Given the description of an element on the screen output the (x, y) to click on. 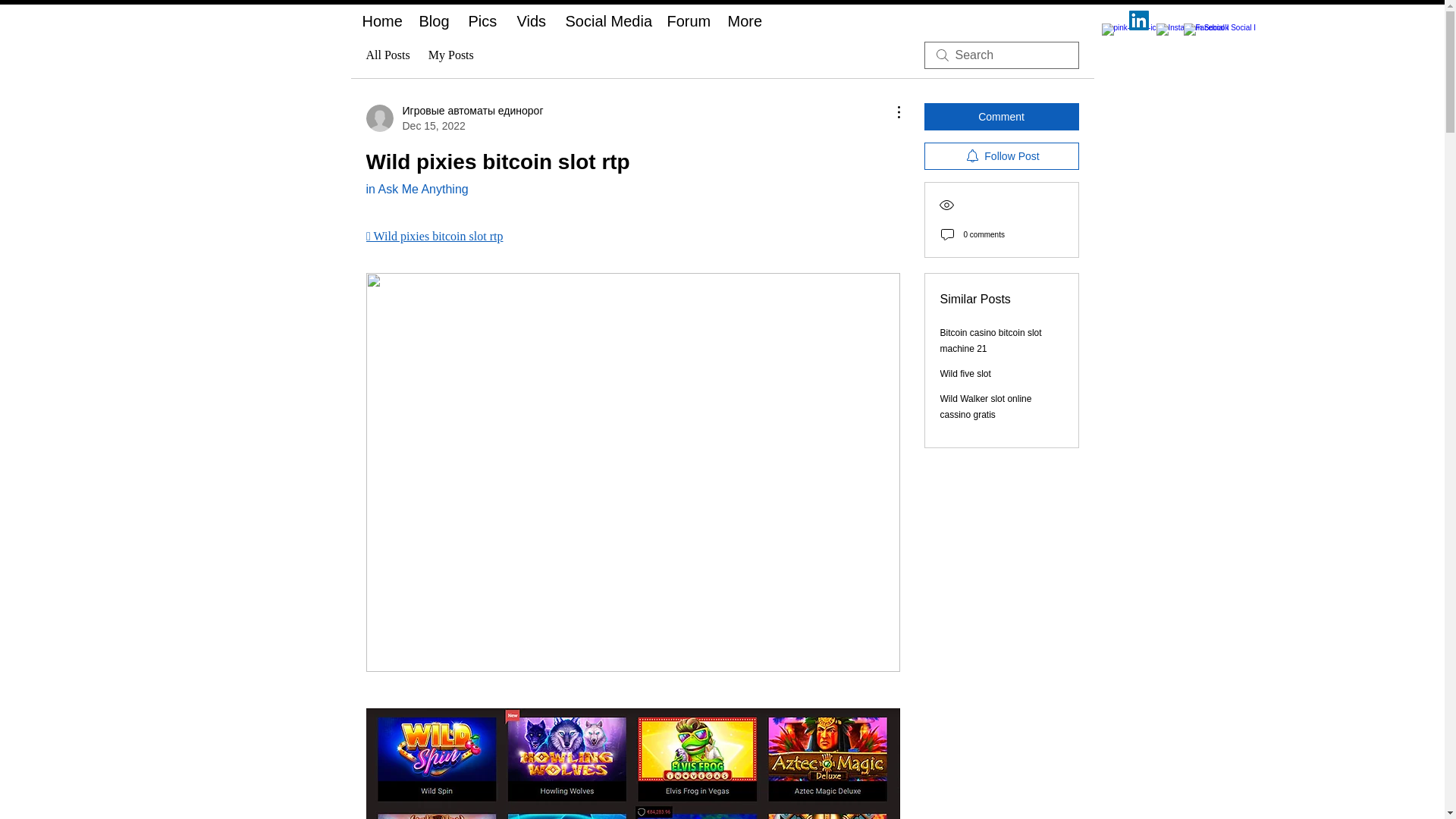
Wild Walker slot online cassino gratis (986, 406)
My Posts (451, 54)
Home (378, 17)
Wild five slot (965, 373)
Pics (481, 17)
All Posts (387, 54)
Follow Post (1000, 155)
Social Media (604, 17)
Vids (529, 17)
Blog (432, 17)
Bitcoin casino bitcoin slot machine 21 (991, 340)
in Ask Me Anything (416, 188)
Comment (1000, 116)
Forum (685, 17)
